Given the description of an element on the screen output the (x, y) to click on. 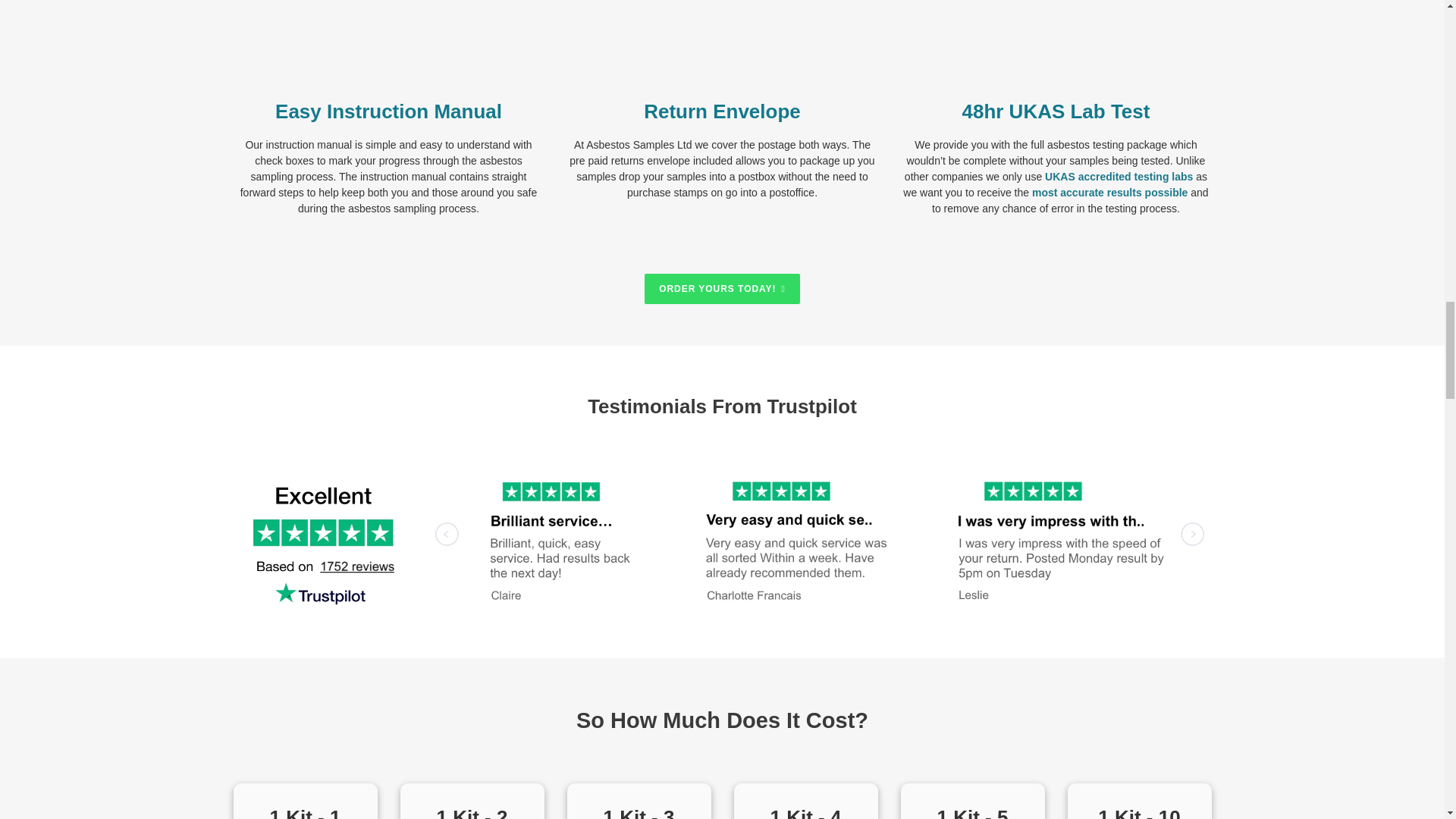
ORDER YOURS TODAY! (722, 288)
